Given the description of an element on the screen output the (x, y) to click on. 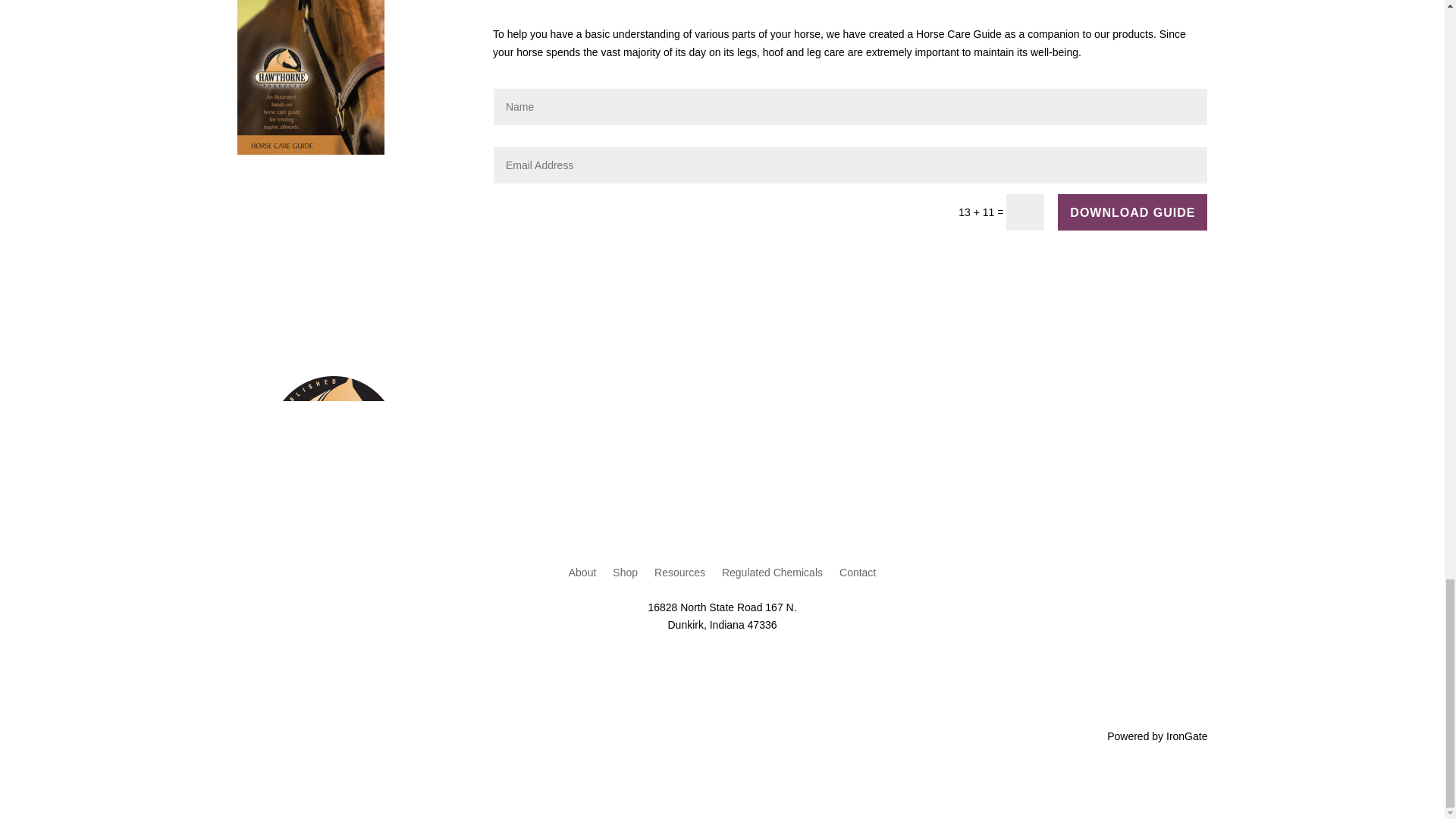
Regulated Chemicals (772, 575)
Follow on Facebook (675, 661)
Follow on LinkedIn (766, 661)
About (582, 575)
Privacy Policy (388, 736)
Terms and Conditions (490, 736)
Regulated Chemicals (286, 736)
Resources (678, 575)
hawthorne-products-logo-gold (330, 443)
Follow on Youtube (737, 661)
large-HP-guide-booklet-cover (309, 77)
DOWNLOAD GUIDE (1132, 212)
Contact (858, 575)
Shop (624, 575)
Follow on X (706, 661)
